Given the description of an element on the screen output the (x, y) to click on. 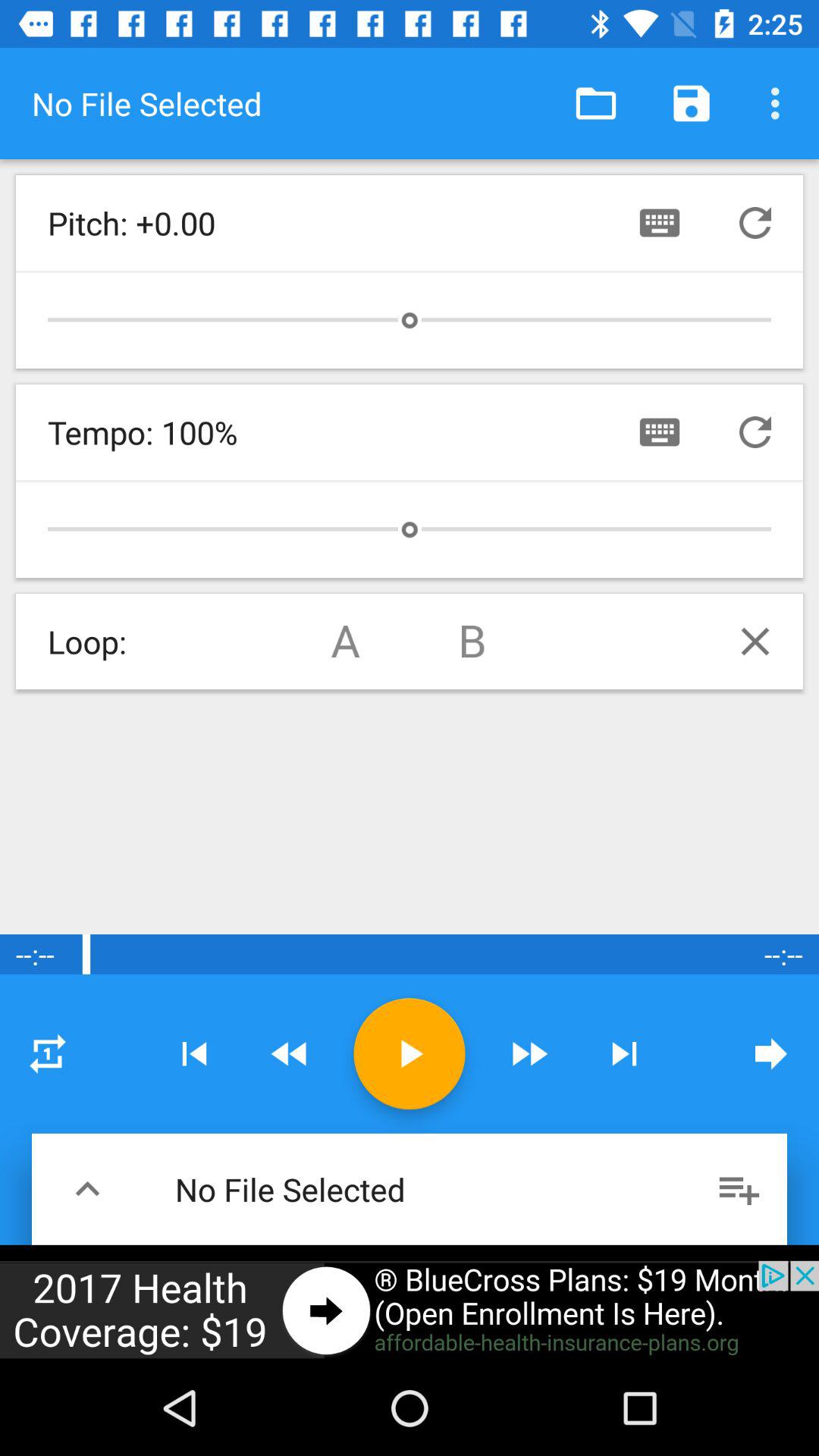
plays second track (472, 641)
